Given the description of an element on the screen output the (x, y) to click on. 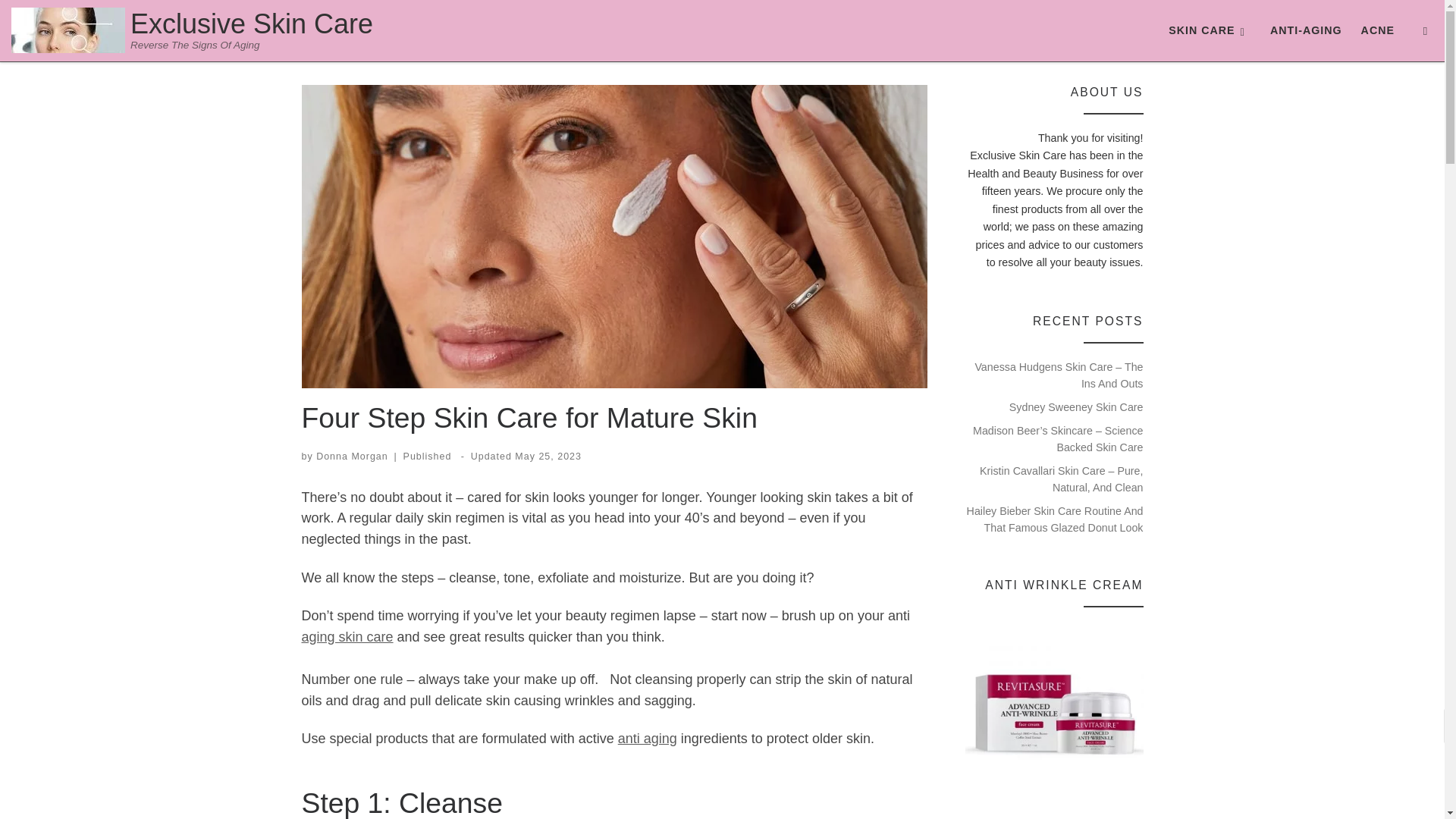
ACNE (1377, 29)
May 25, 2023 (547, 456)
Sydney Sweeney Skin Care (1075, 406)
Exclusive Skin Care (251, 23)
aging skin care (347, 636)
anti aging (647, 738)
Skip to content (60, 20)
SKIN CARE (1209, 29)
anti aging (647, 738)
ANTI-AGING (1305, 29)
View all posts by Donna Morgan (351, 456)
Donna Morgan (351, 456)
10:12 pm (547, 456)
Advanced Anti Wrinkle Cream 30ml With Matrixyl 3000 (1053, 711)
aging skin care (347, 636)
